Given the description of an element on the screen output the (x, y) to click on. 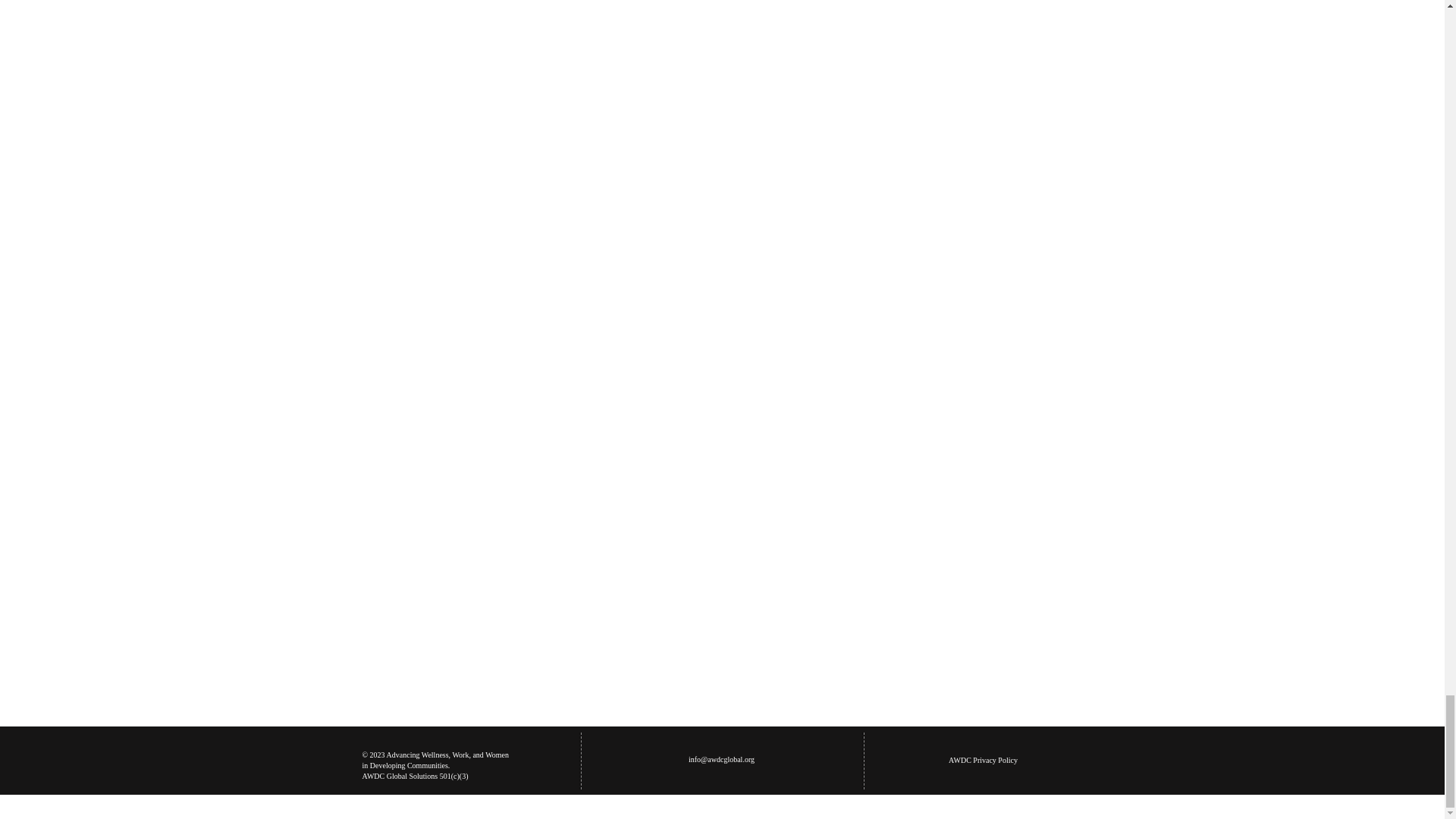
AWDC Privacy Policy (983, 759)
